Given the description of an element on the screen output the (x, y) to click on. 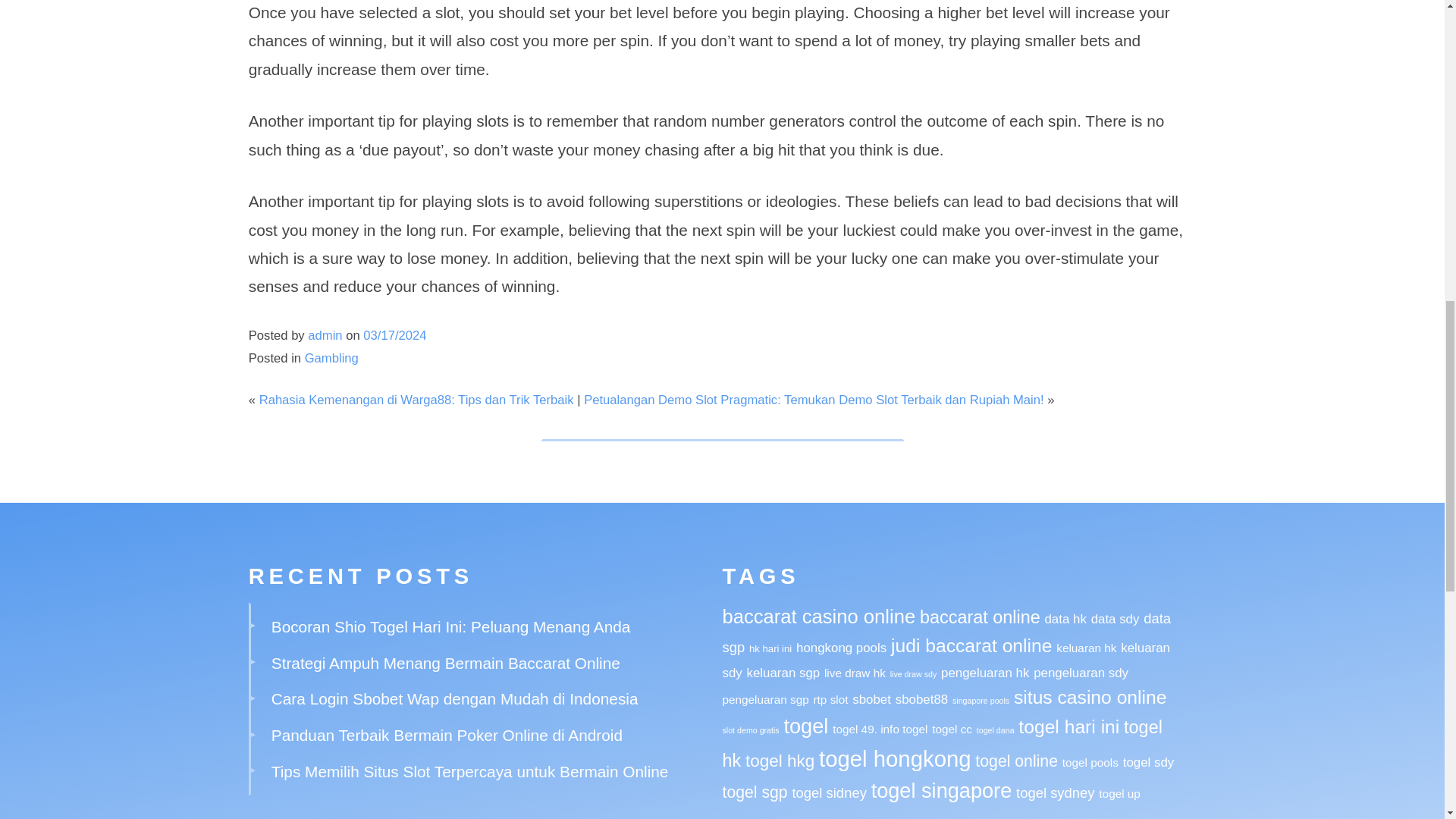
data sgp (946, 632)
singapore pools (980, 700)
live draw hk (854, 672)
keluaran sgp (783, 672)
Cara Login Sbobet Wap dengan Mudah di Indonesia (454, 698)
Tips Memilih Situs Slot Terpercaya untuk Bermain Online (469, 771)
Strategi Ampuh Menang Bermain Baccarat Online (445, 662)
keluaran hk (1086, 647)
baccarat online (980, 617)
slot demo gratis (750, 729)
